Given the description of an element on the screen output the (x, y) to click on. 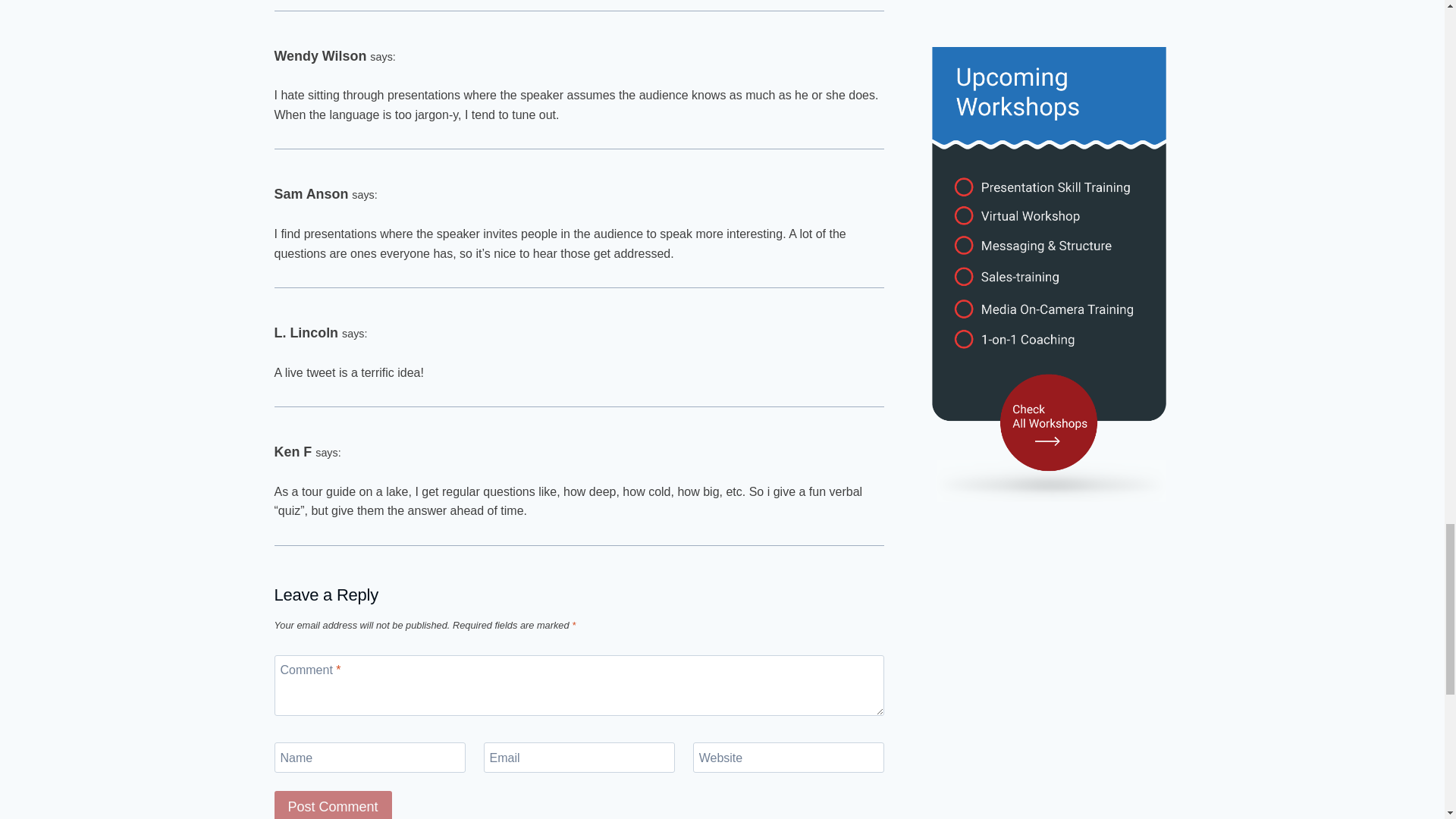
Post Comment (333, 805)
